Given the description of an element on the screen output the (x, y) to click on. 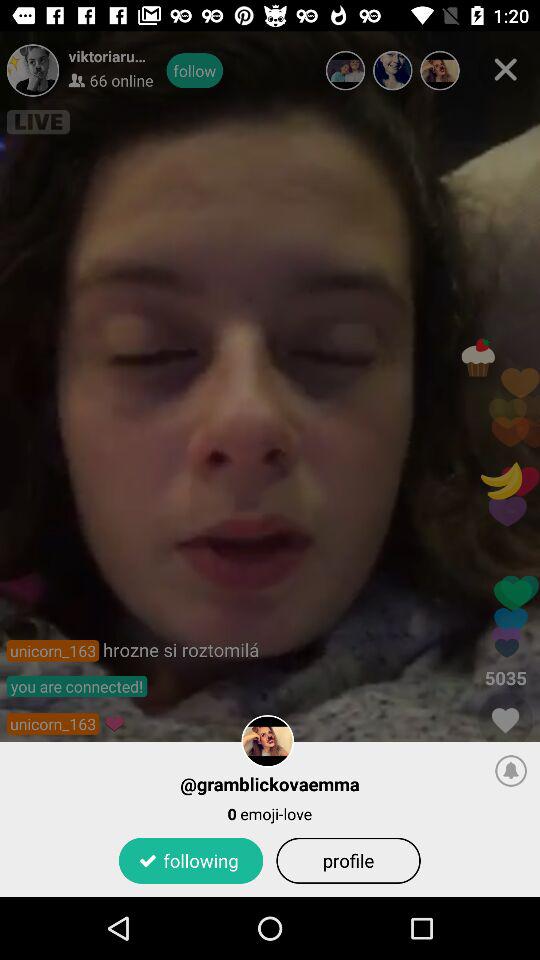
click the profile icon (348, 860)
